Given the description of an element on the screen output the (x, y) to click on. 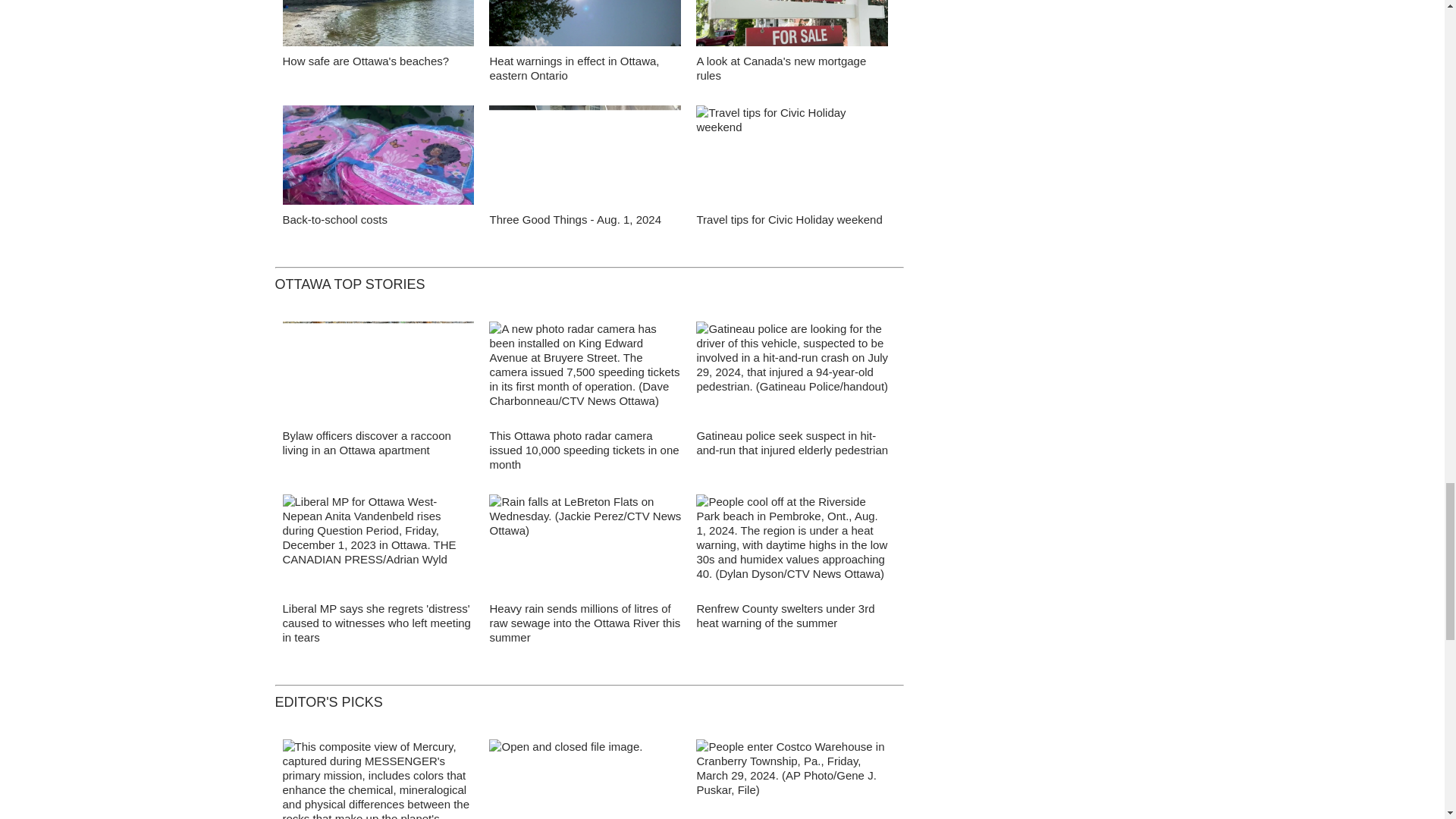
false (585, 22)
Three Good Things - Aug. 1, 2024 (575, 219)
false (791, 154)
false (791, 22)
A look at Canada's new mortgage rules (780, 67)
Travel tips for Civic Holiday weekend (788, 219)
Back-to-school costs (334, 219)
